Given the description of an element on the screen output the (x, y) to click on. 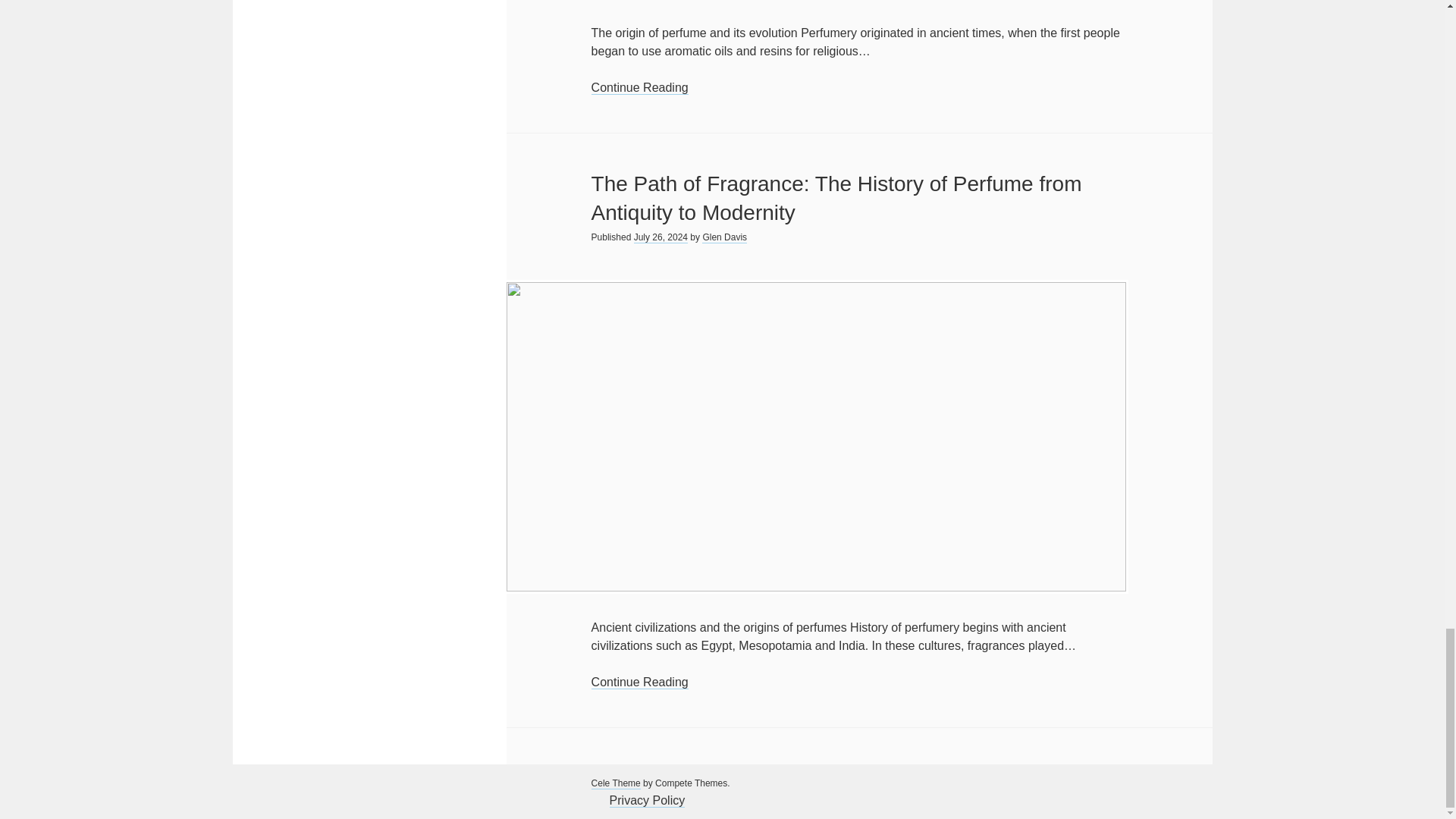
July 26, 2024 (660, 237)
Glen Davis (723, 237)
